Given the description of an element on the screen output the (x, y) to click on. 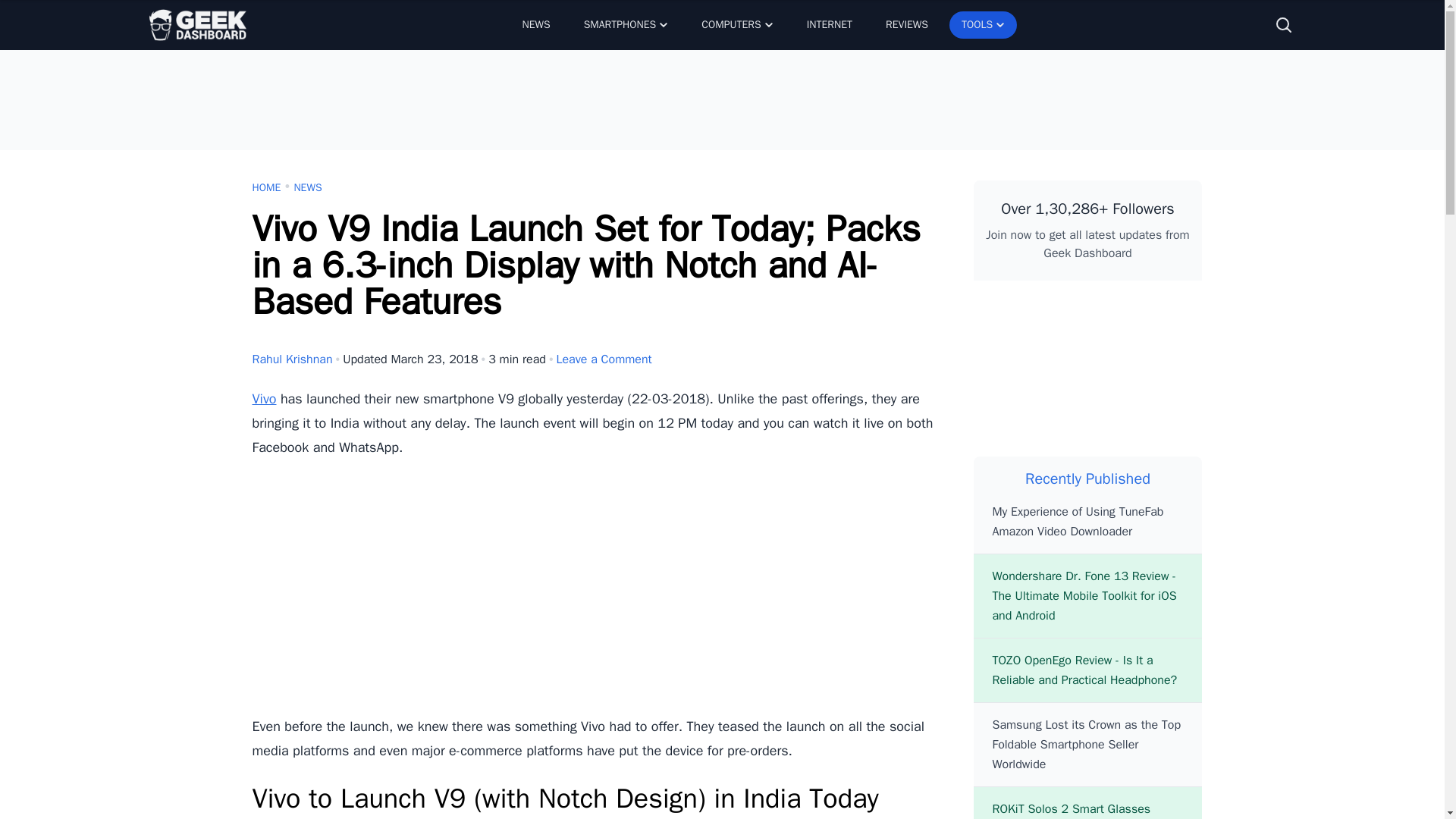
Subscribe to Geek Dashboard on YouTube (1087, 375)
Join Geek Dashboard Telegram Channel (1163, 311)
TOOLS (982, 24)
COMPUTERS (736, 24)
Leave a Comment (603, 359)
Follow Geek Dashboard on Instagram (1163, 375)
SMARTPHONES (626, 24)
Follow Geek Dashboard on Pinterest (1011, 375)
NEWS (307, 187)
INTERNET (829, 24)
Vivo (263, 398)
Follow Geek Dashbaord on Twitter (1087, 311)
REVIEWS (906, 24)
Rahul Krishnan (291, 359)
NEWS (535, 24)
